Given the description of an element on the screen output the (x, y) to click on. 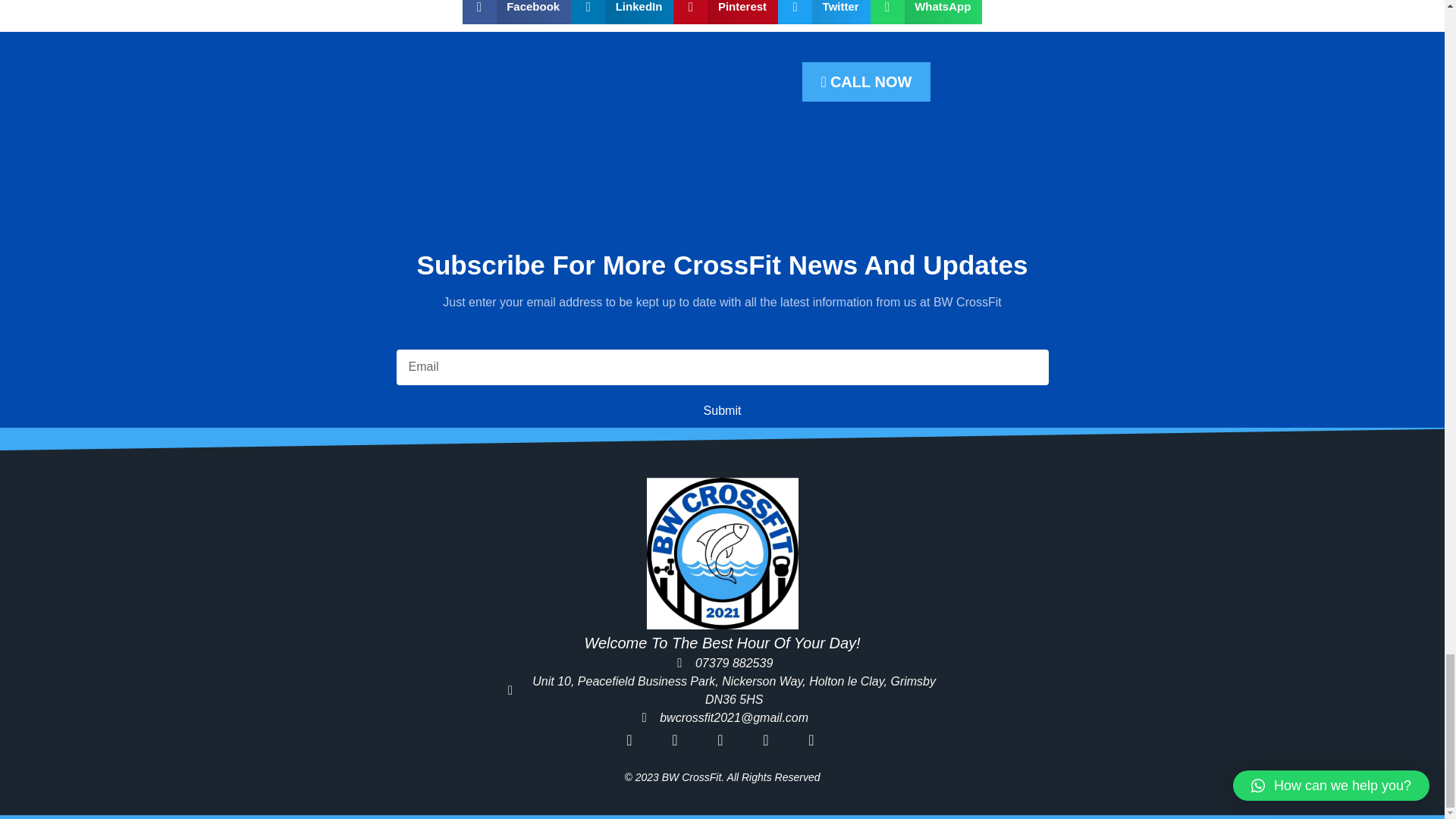
07379 882539 (722, 663)
Submit (722, 410)
CALL NOW (866, 81)
